Given the description of an element on the screen output the (x, y) to click on. 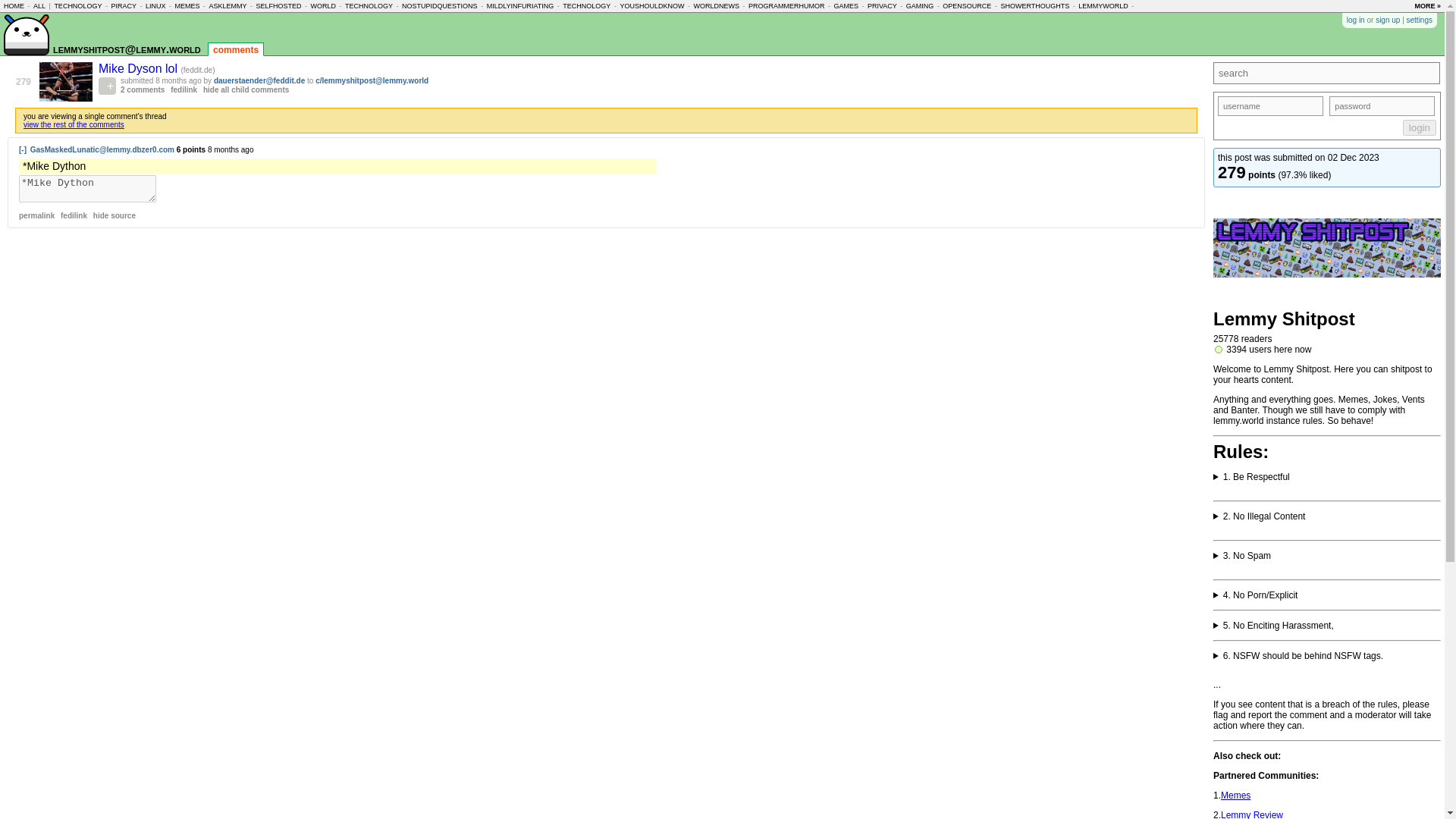
LEMMYWORLD (1103, 5)
permalink (36, 215)
TECHNOLOGY (586, 5)
HOME (14, 5)
sign up (1387, 19)
2 comments (142, 89)
WORLDNEWS (716, 5)
WORLD (323, 5)
fedilink (183, 89)
OPENSOURCE (966, 5)
